Given the description of an element on the screen output the (x, y) to click on. 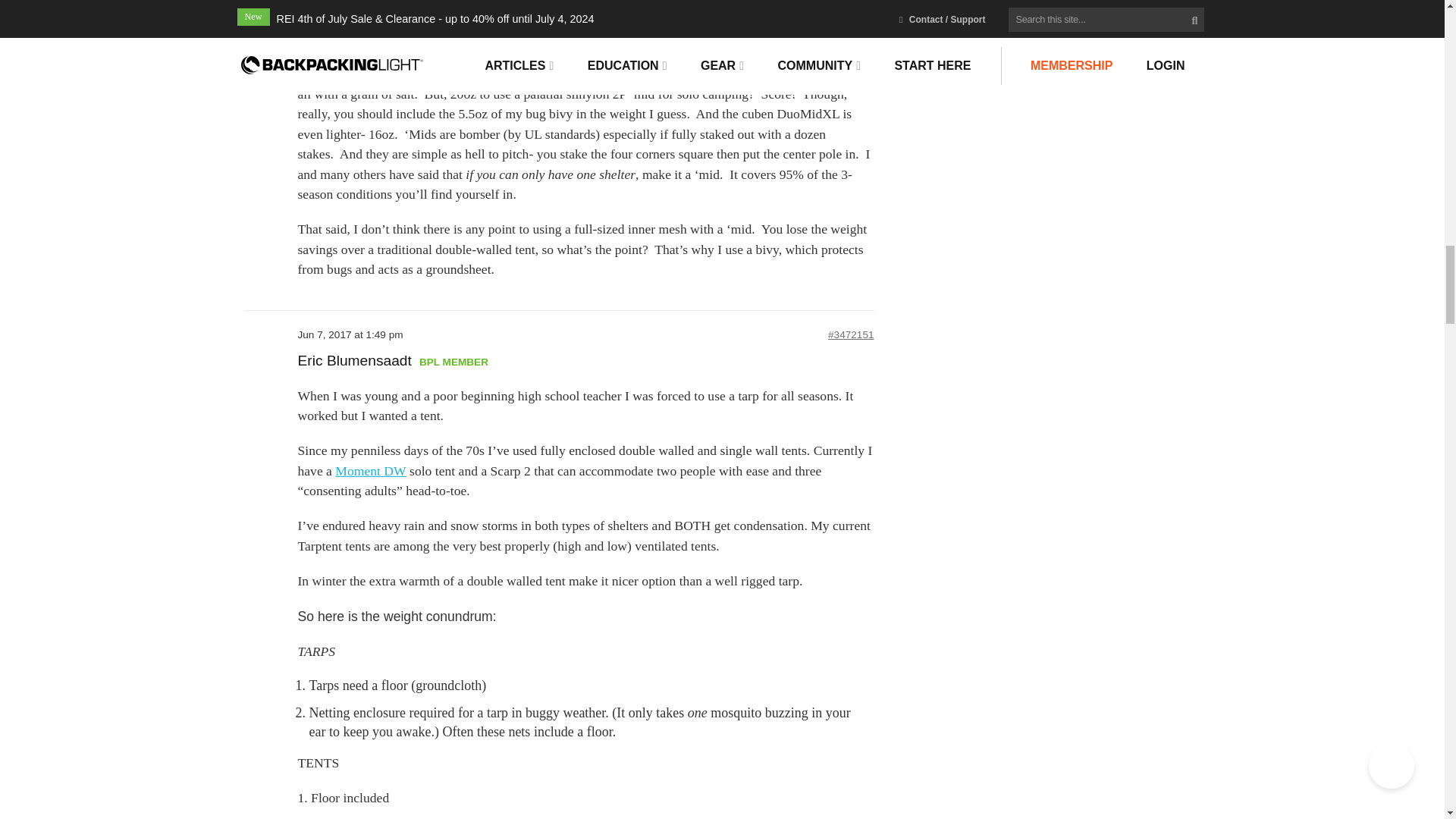
View Dean F.'s profile (322, 2)
View Eric Blumensaadt's profile (353, 360)
